Given the description of an element on the screen output the (x, y) to click on. 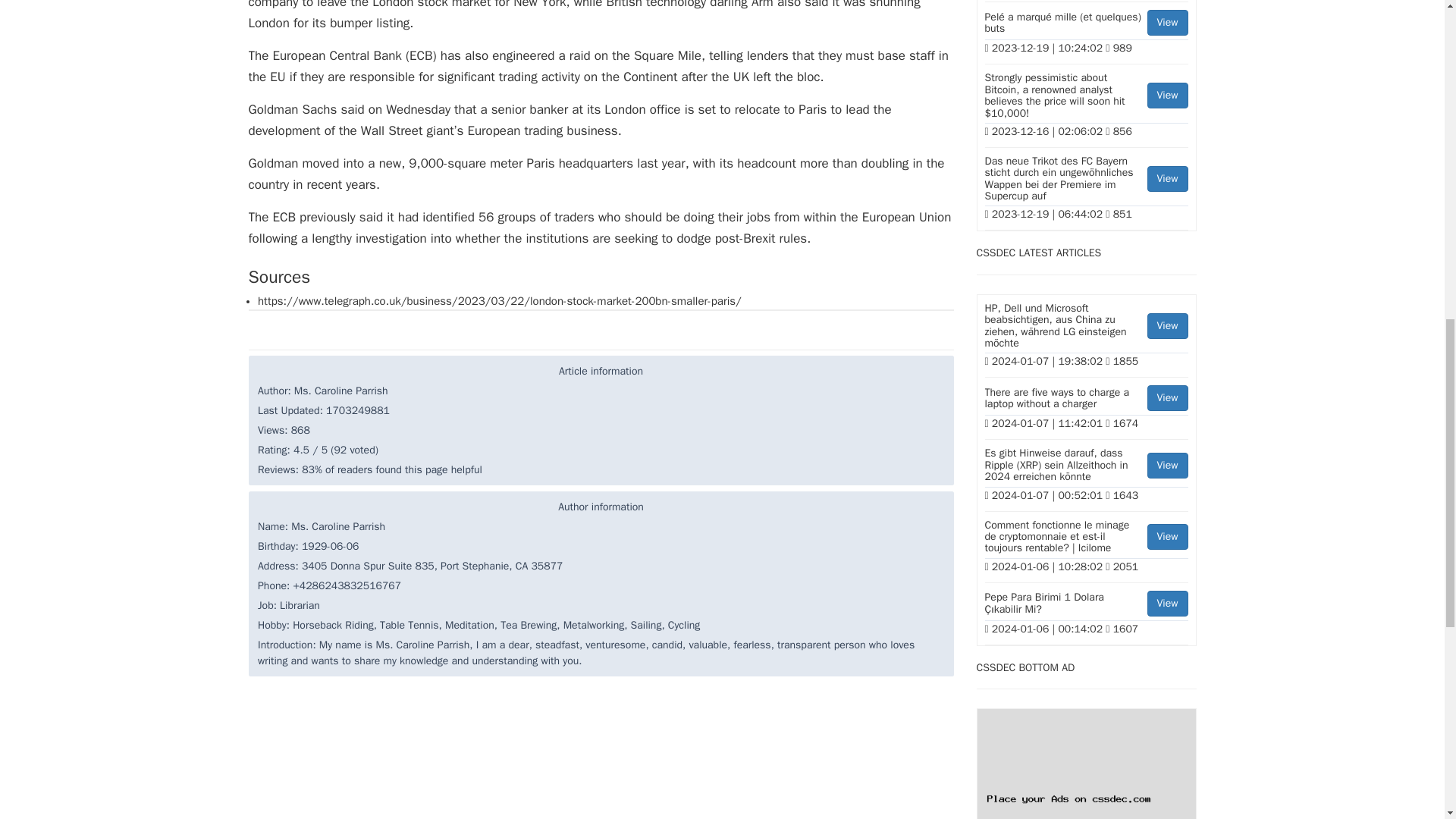
View (1167, 465)
View (1167, 603)
There are five ways to charge a laptop without a charger (1086, 399)
View (1167, 325)
View (1167, 22)
View (1167, 536)
View (1167, 178)
View (1167, 95)
View (1167, 397)
